Given the description of an element on the screen output the (x, y) to click on. 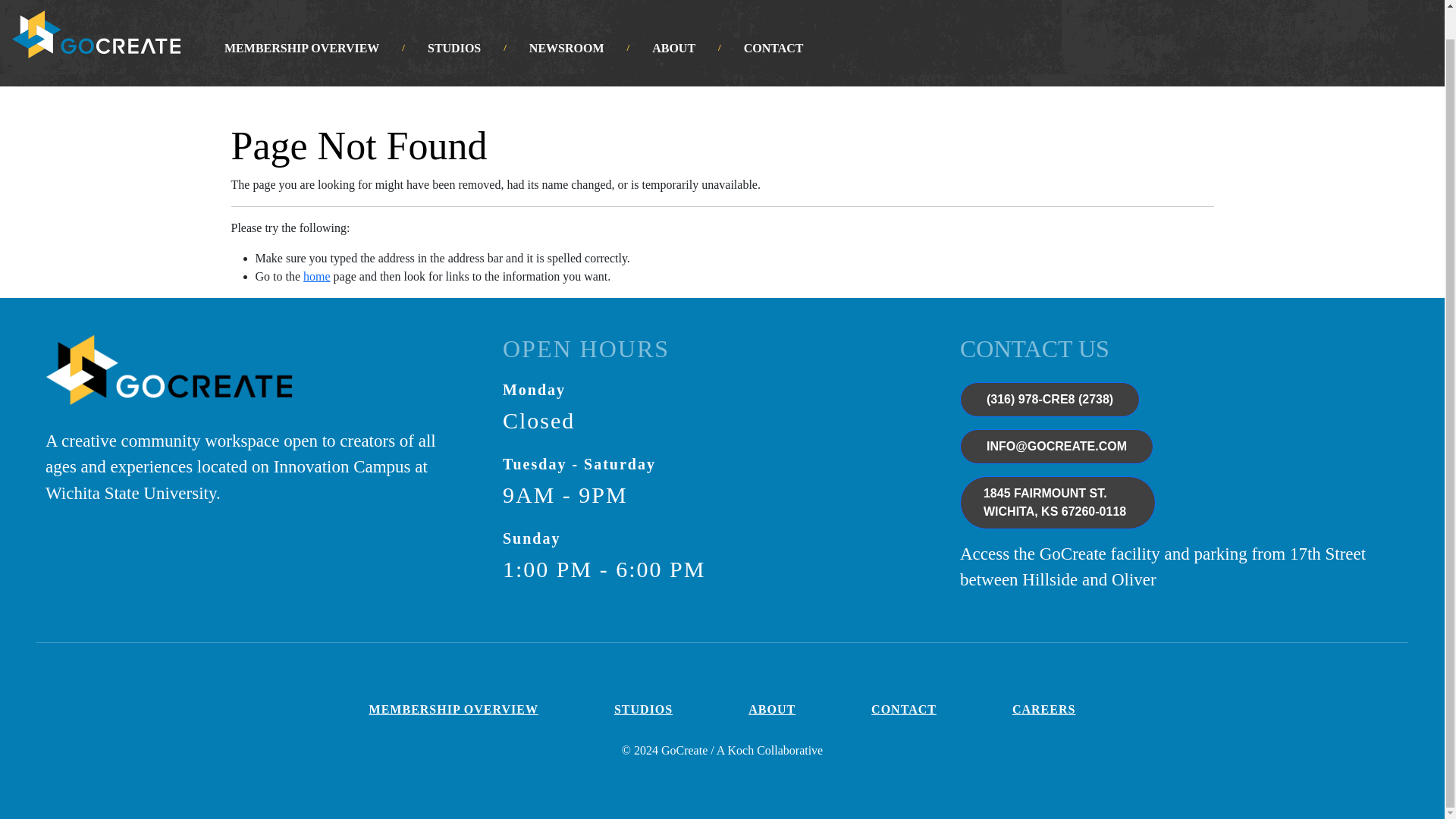
ABOUT (674, 47)
GoCreate (168, 380)
home (316, 276)
MEMBERSHIP OVERVIEW (453, 709)
NEWSROOM (566, 47)
CAREERS (1209, 0)
CONTACT (773, 47)
MEMBERSHIP OVERVIEW (301, 47)
GoCreate (1057, 502)
LOGIN (95, 34)
STUDIOS (1307, 0)
